Given the description of an element on the screen output the (x, y) to click on. 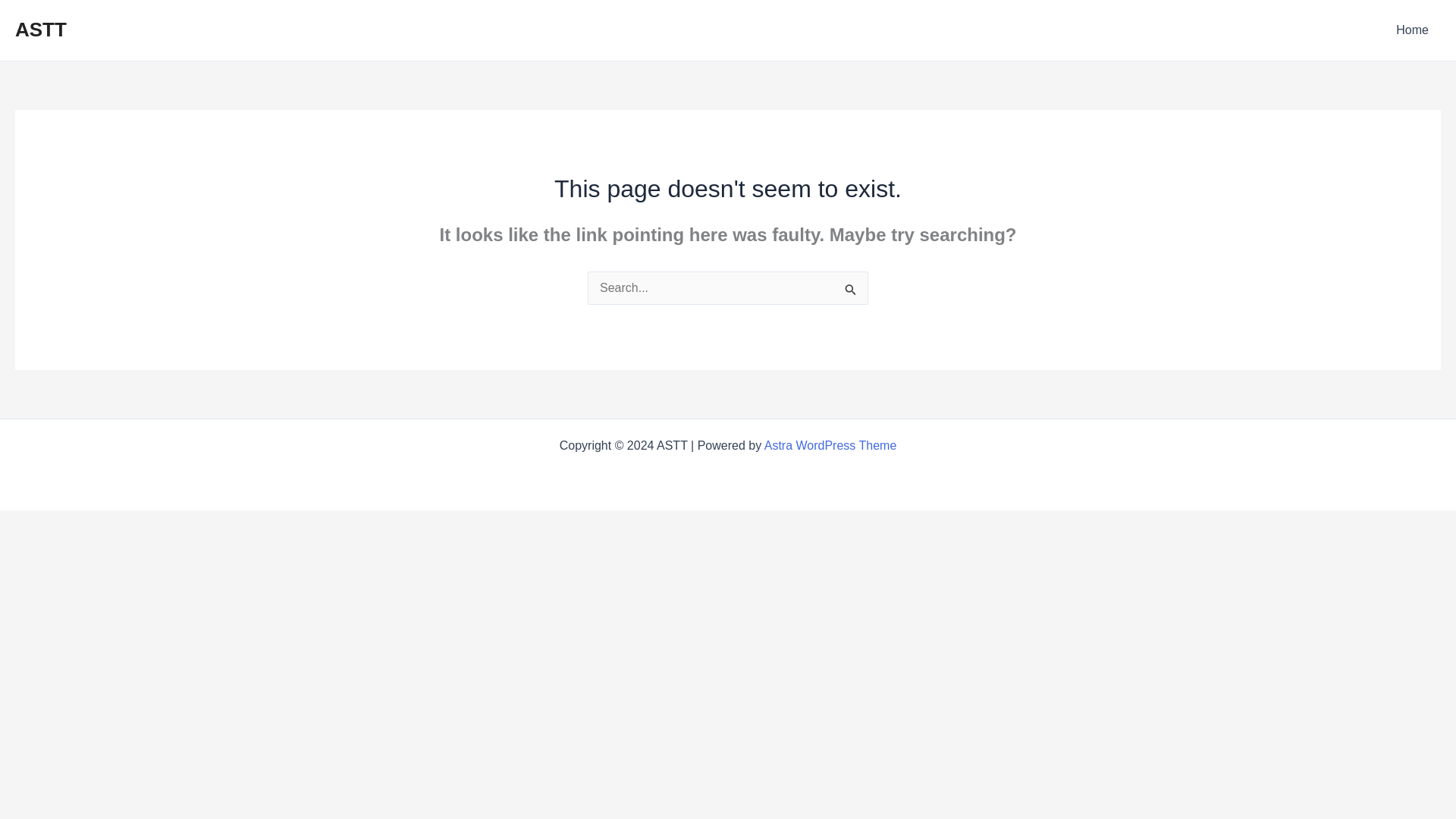
ASTT (40, 29)
Astra WordPress Theme (830, 445)
Home (1412, 30)
